Given the description of an element on the screen output the (x, y) to click on. 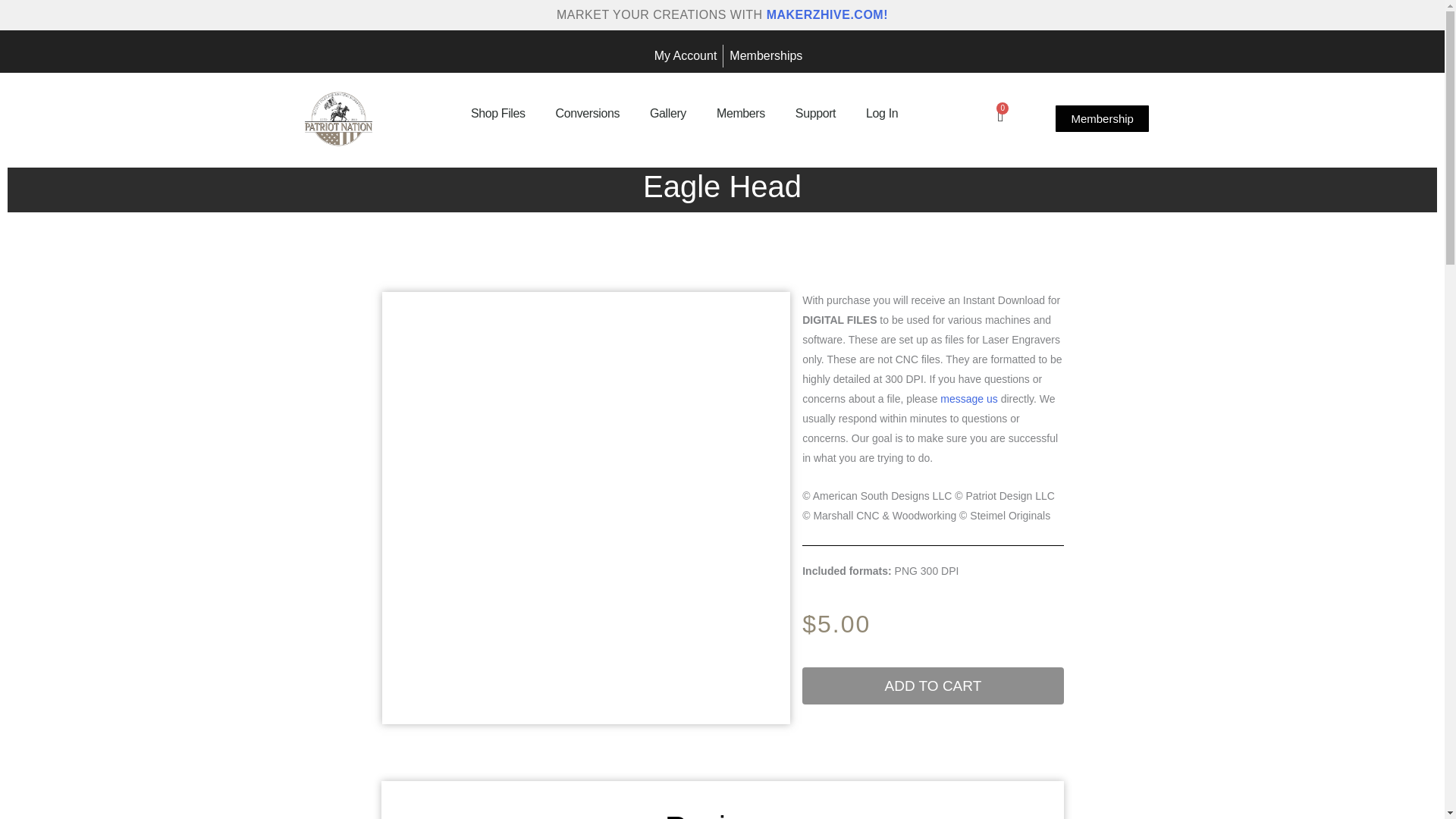
My Account (684, 56)
message us (968, 398)
ADD TO CART (932, 685)
Support (815, 113)
Membership (1101, 118)
Memberships (765, 56)
MAKERZHIVE.COM! (827, 14)
Members (740, 113)
Log In (881, 113)
Gallery (667, 113)
Conversions (587, 113)
Shop Files (497, 113)
